Given the description of an element on the screen output the (x, y) to click on. 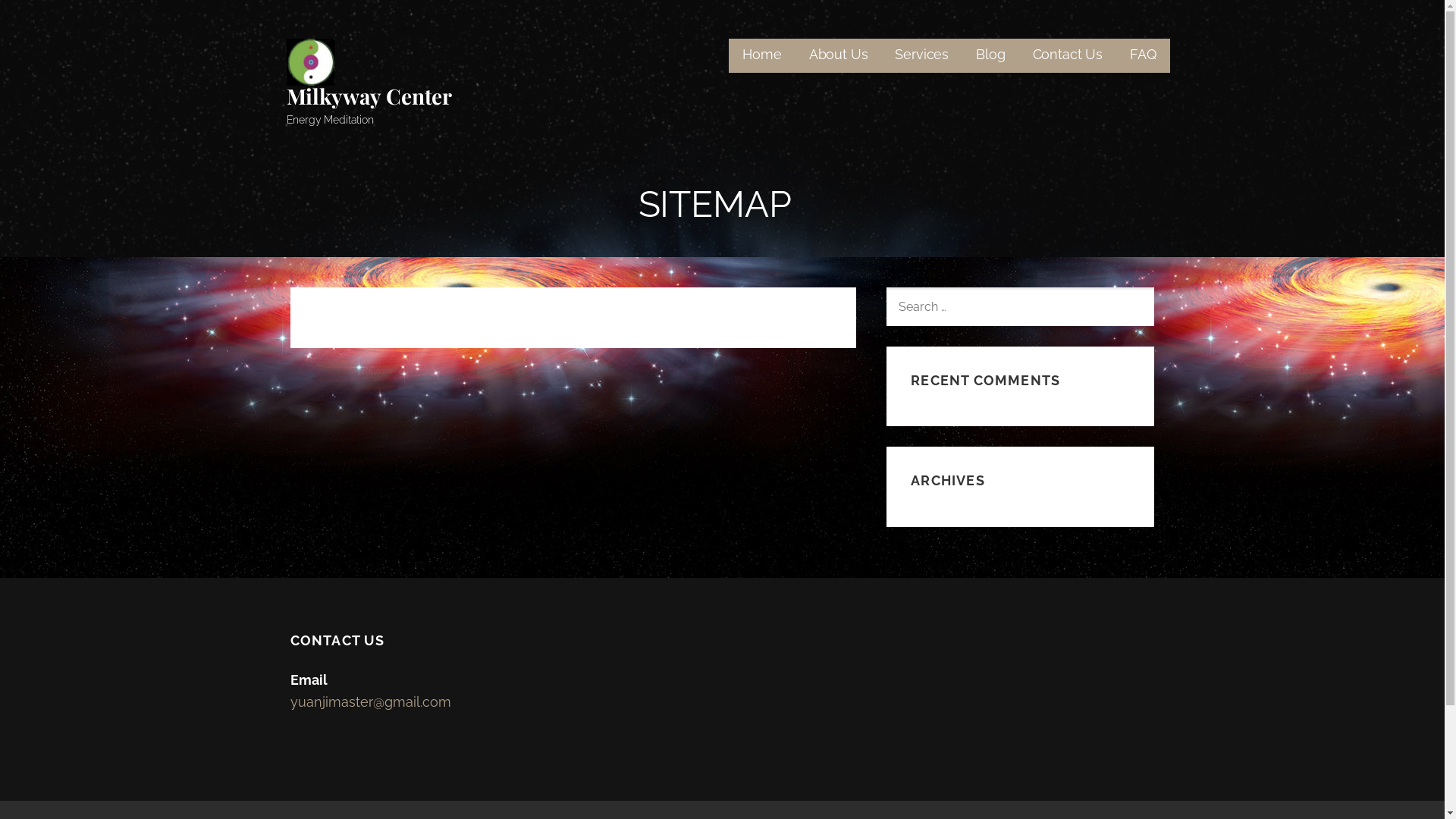
Blog Element type: text (989, 55)
Milkyway Center Element type: text (369, 95)
About Us Element type: text (838, 55)
yuanjimaster@gmail.com Element type: text (369, 701)
Contact Us Element type: text (1067, 55)
FAQ Element type: text (1142, 55)
Services Element type: text (921, 55)
Home Element type: text (761, 55)
Search Element type: text (46, 17)
